Given the description of an element on the screen output the (x, y) to click on. 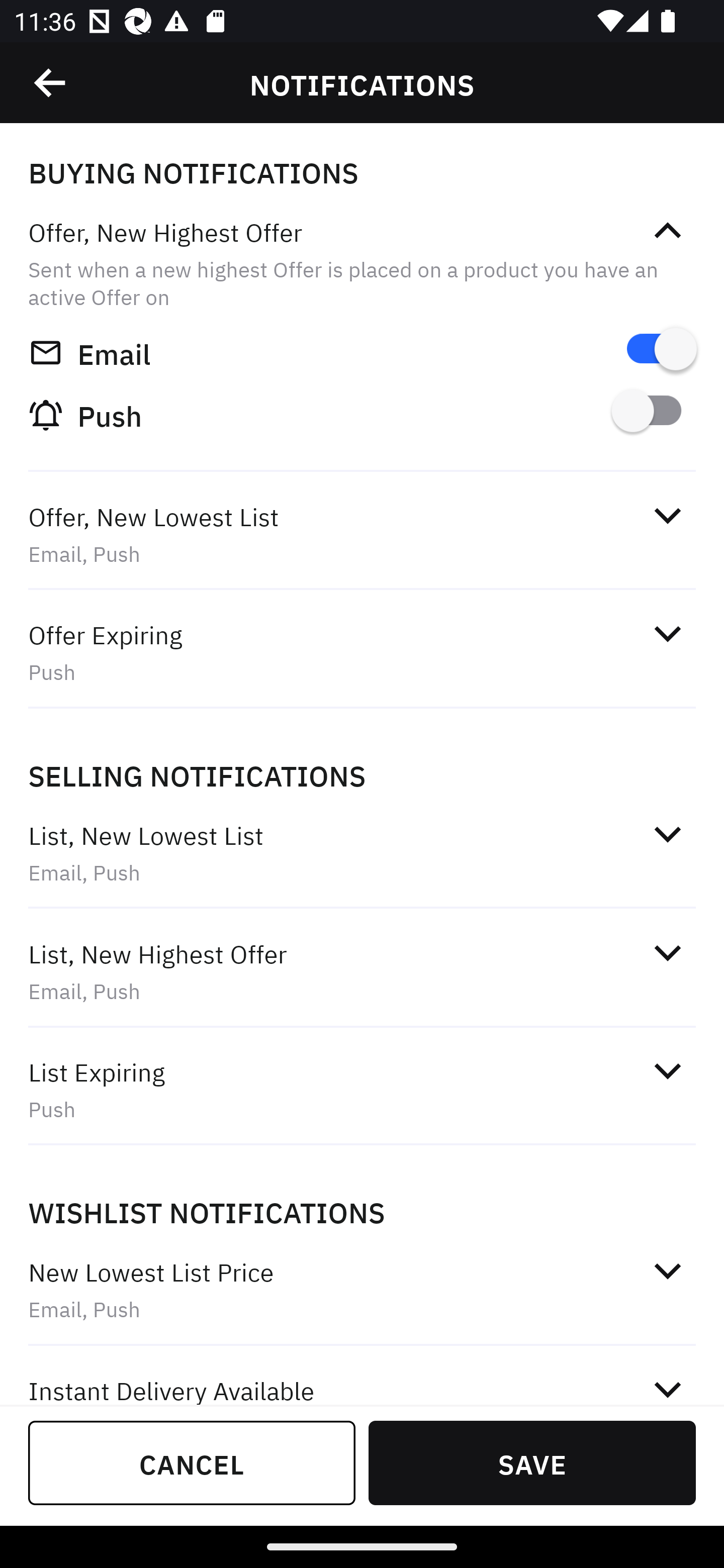
 (50, 83)
 (667, 231)
Offer, New Lowest List  Email, Push (361, 534)
 (667, 514)
Offer Expiring  Push (361, 652)
 (667, 633)
List, New Lowest List  Email, Push (361, 852)
 (667, 834)
List, New Highest Offer  Email, Push (361, 971)
 (667, 952)
List Expiring  Push (361, 1089)
 (667, 1070)
New Lowest List Price  Email, Push (361, 1290)
 (667, 1270)
Instant Delivery Available  (361, 1377)
 (667, 1385)
CANCEL (191, 1462)
SAVE (531, 1462)
